Given the description of an element on the screen output the (x, y) to click on. 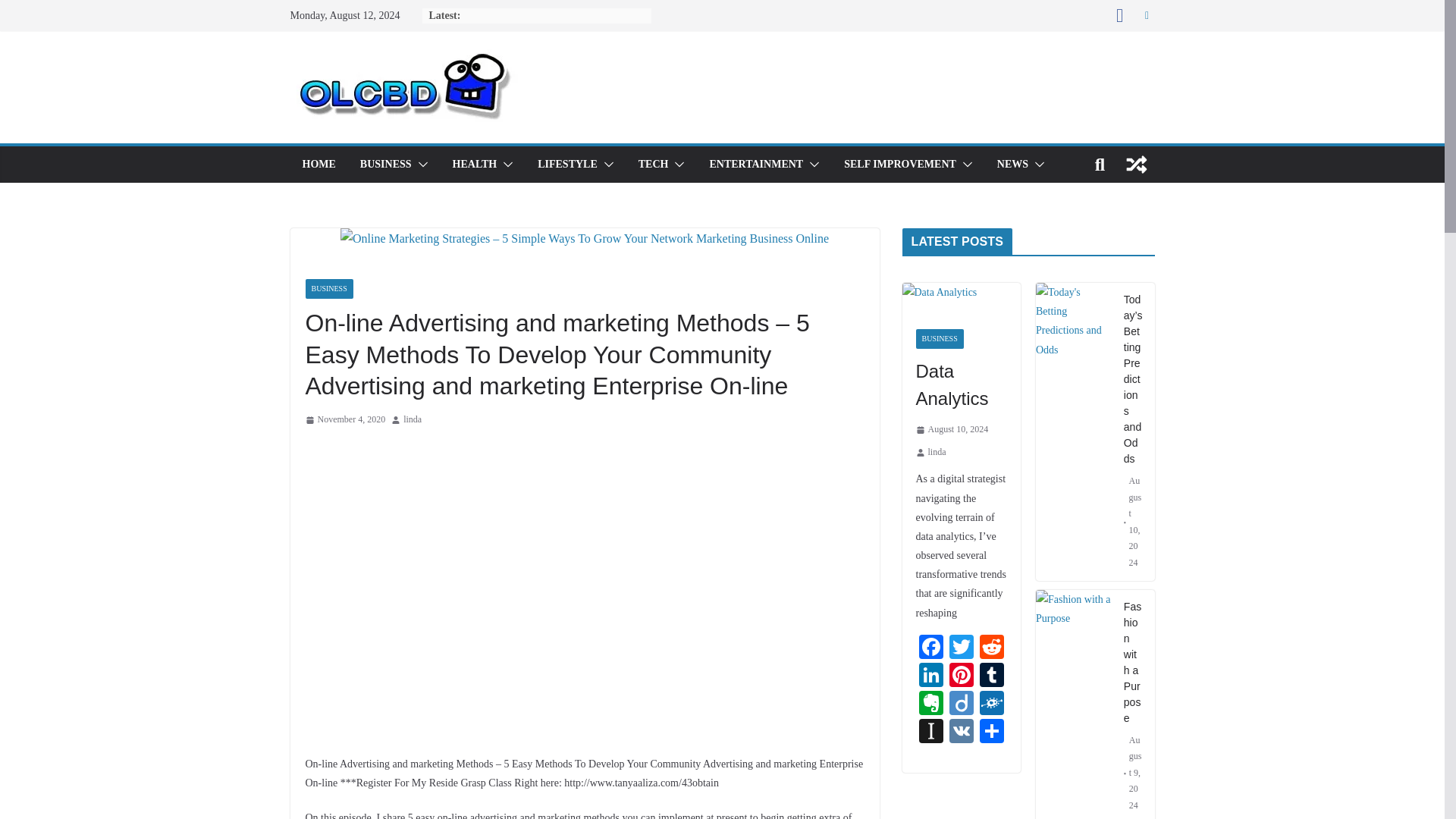
View a random post (1136, 164)
TECH (653, 164)
linda (412, 419)
HEALTH (474, 164)
LIFESTYLE (566, 164)
ENTERTAINMENT (756, 164)
HOME (317, 164)
11:30 am (344, 419)
BUSINESS (385, 164)
